Given the description of an element on the screen output the (x, y) to click on. 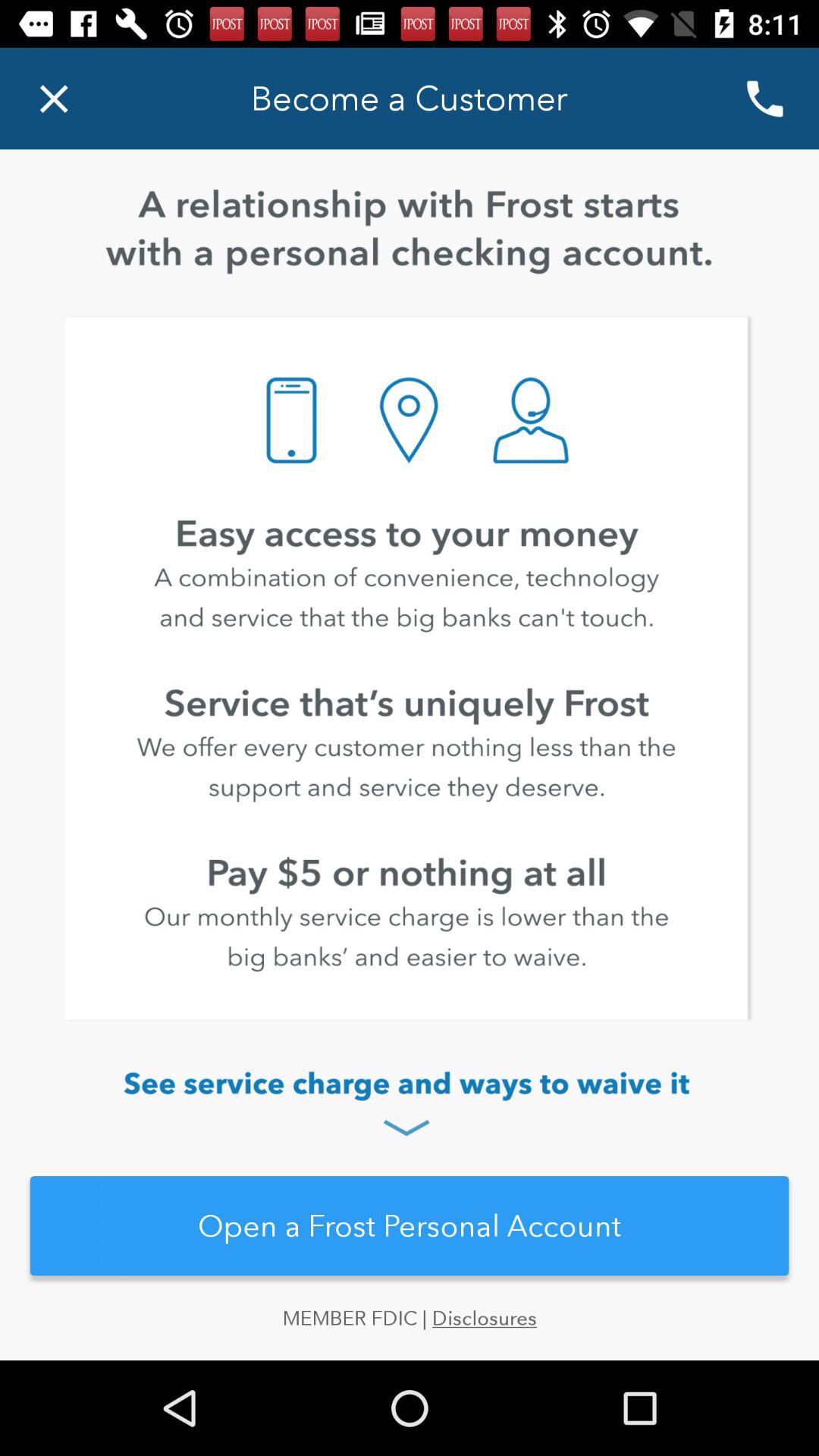
jump to the member fdic | disclosures (409, 1332)
